Given the description of an element on the screen output the (x, y) to click on. 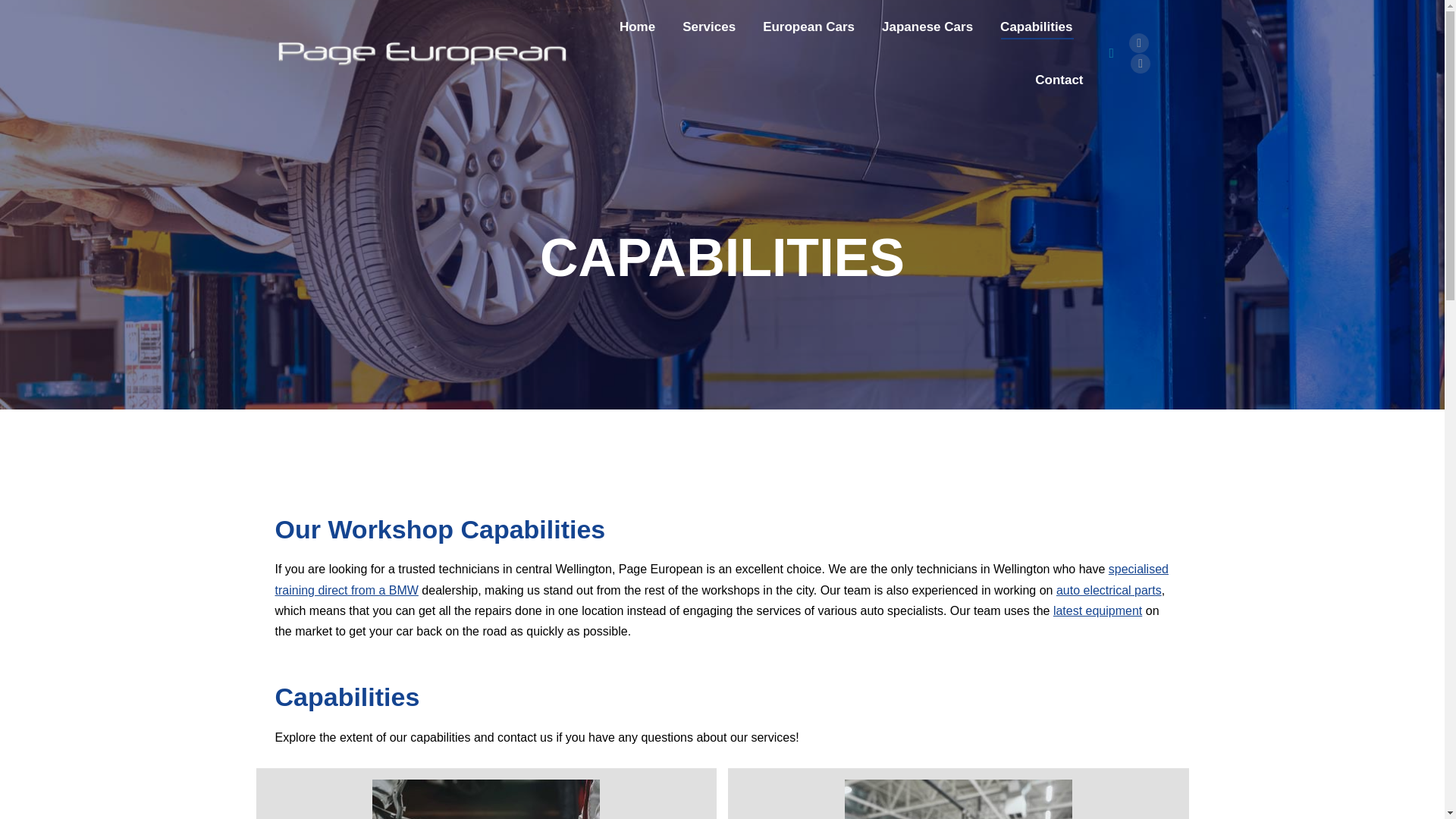
Mail page opens in new window (1140, 63)
Japanese Cars (927, 25)
Home (636, 25)
Facebook page opens in new window (1138, 43)
Facebook page opens in new window (1138, 43)
Capabilities (1036, 25)
Services (708, 25)
European Cars (808, 25)
Contact (1059, 78)
Go! (27, 16)
